Given the description of an element on the screen output the (x, y) to click on. 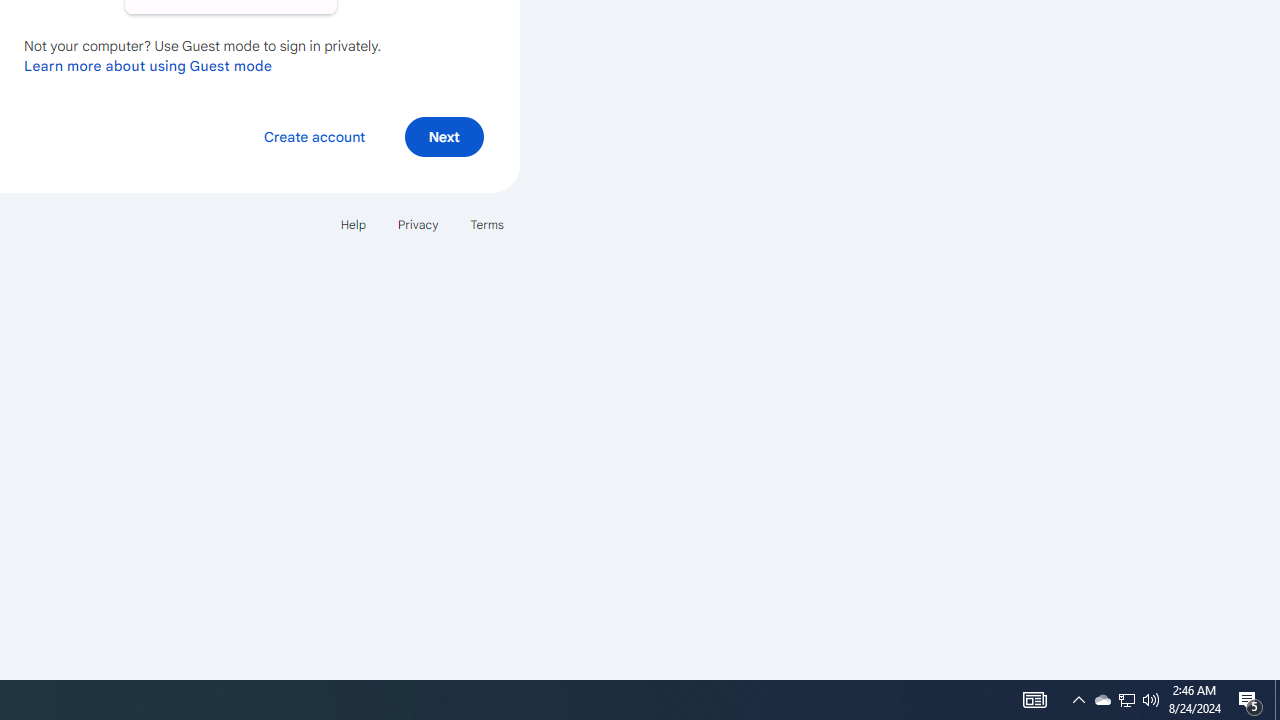
Learn more about using Guest mode (148, 65)
Create account (314, 135)
